Given the description of an element on the screen output the (x, y) to click on. 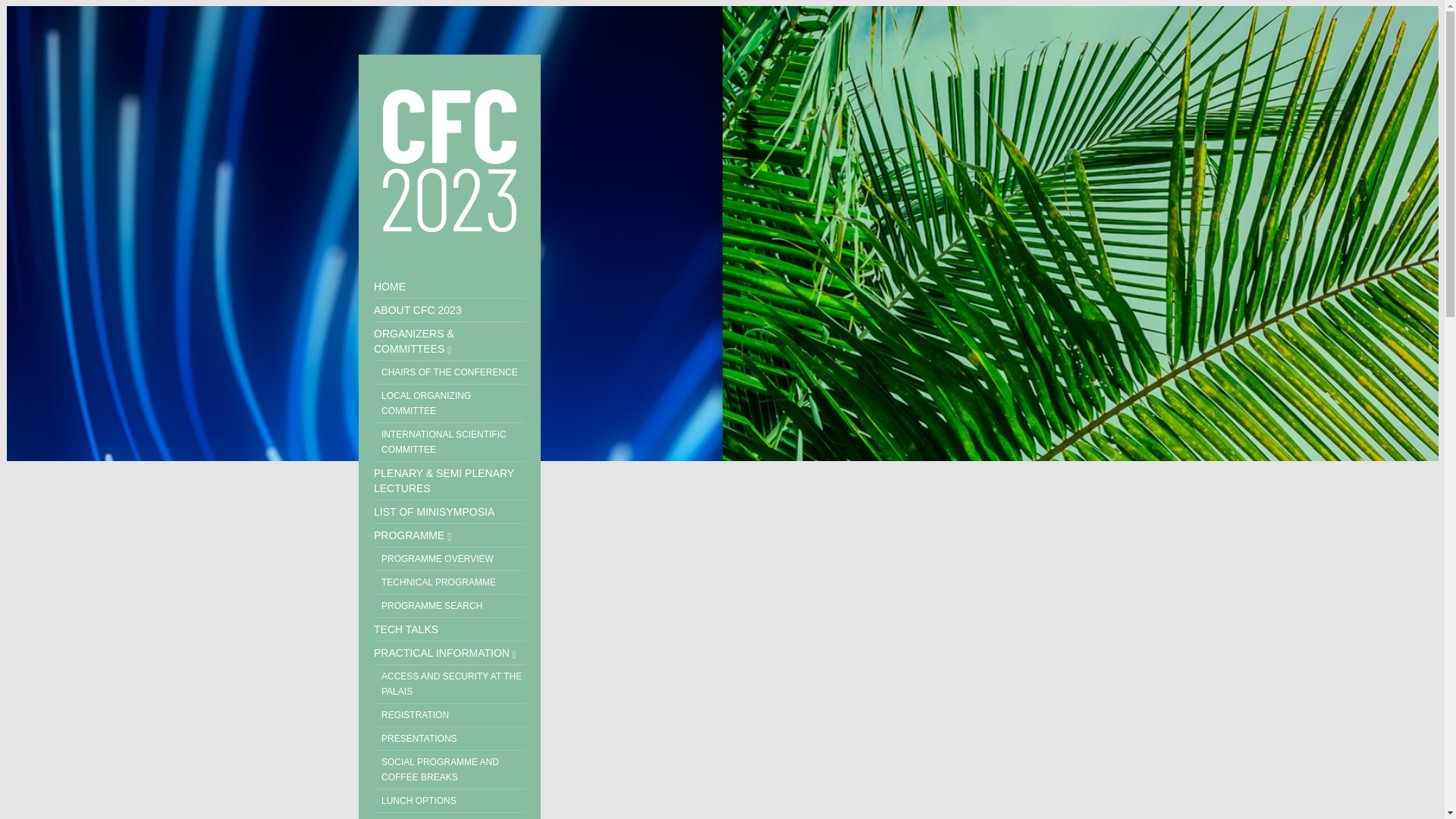
PRESENTATIONS (449, 739)
INTERNATIONAL SCIENTIFIC COMMITTEE (449, 442)
PROGRAMME SEARCH (449, 606)
LOCAL ORGANIZING COMMITTEE (449, 403)
PROGRAMME OVERVIEW (449, 558)
CHAIRS OF THE CONFERENCE (449, 372)
HOME (449, 286)
SOCIAL PROGRAMME AND COFFEE BREAKS (449, 770)
PROGRAMME (449, 535)
ACCESS AND SECURITY AT THE PALAIS (449, 684)
